Given the description of an element on the screen output the (x, y) to click on. 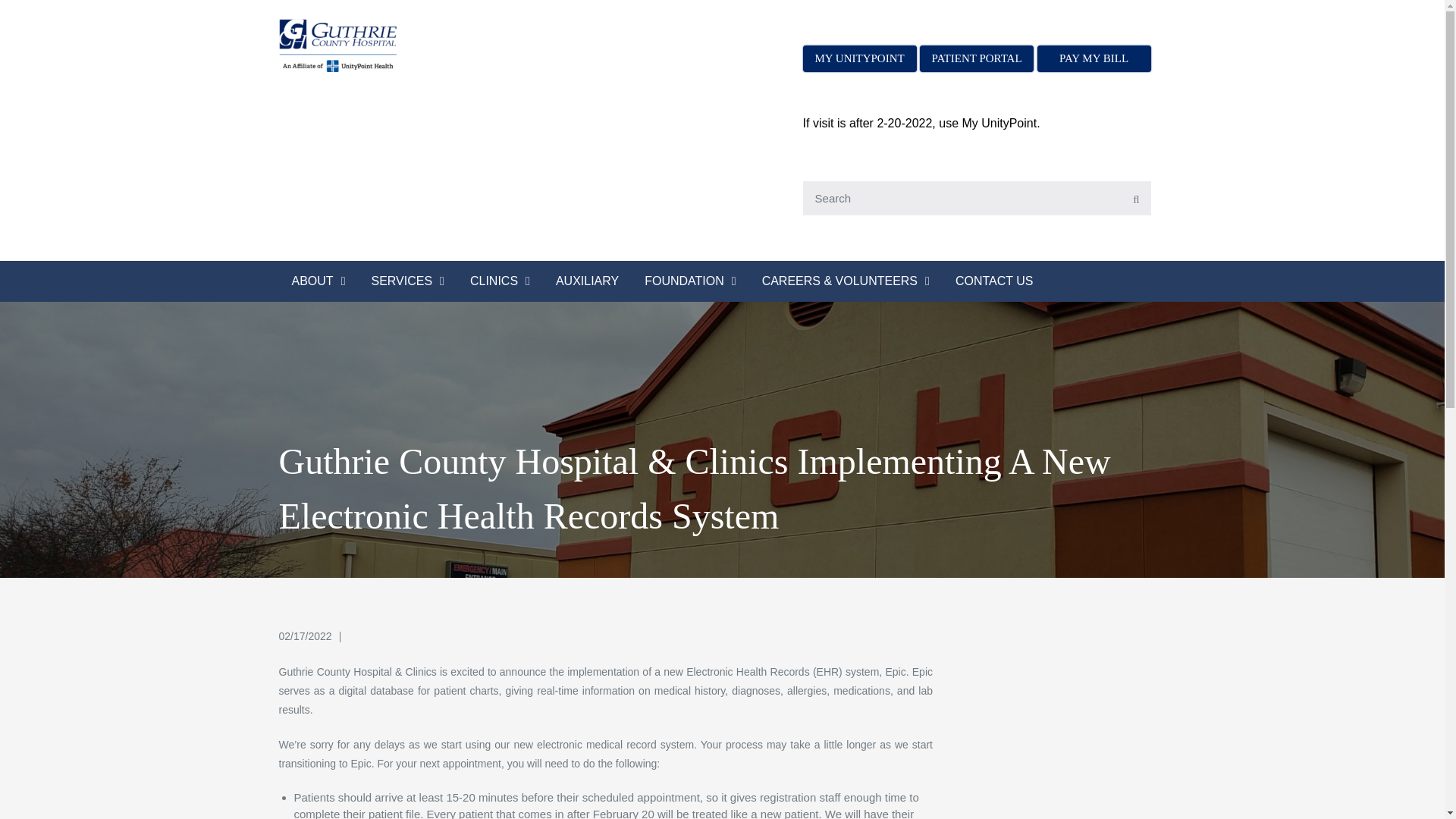
Guthrie County Hospital (560, 59)
MY UNITYPOINT (860, 58)
PATIENT PORTAL (976, 58)
SERVICES (407, 281)
PAY MY BILL (1093, 58)
ABOUT (318, 281)
